Given the description of an element on the screen output the (x, y) to click on. 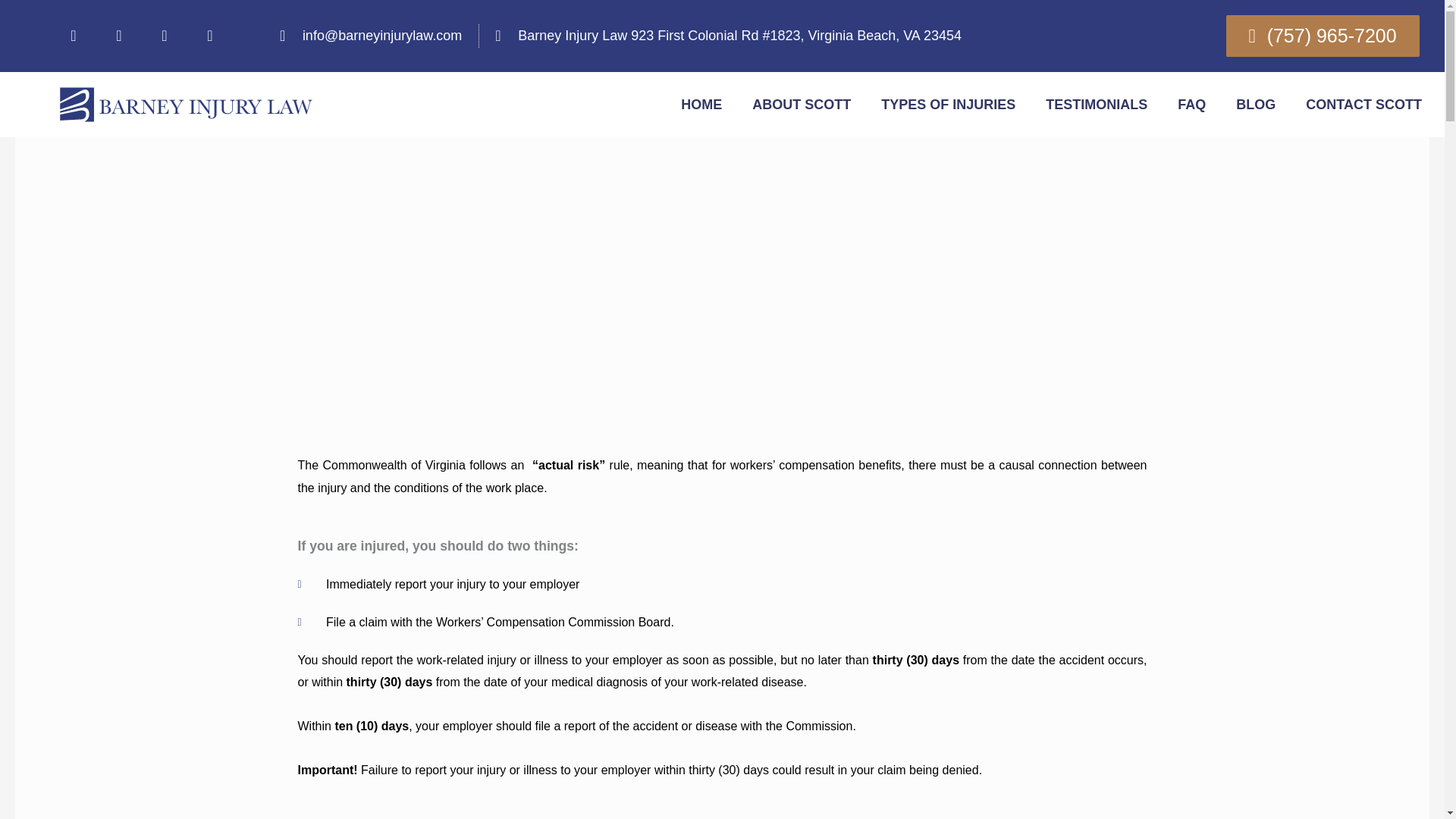
ABOUT SCOTT (801, 104)
FAQ (1191, 104)
HOME (700, 104)
TYPES OF INJURIES (948, 104)
CONTACT SCOTT (1363, 104)
BLOG (1255, 104)
TESTIMONIALS (1095, 104)
